Given the description of an element on the screen output the (x, y) to click on. 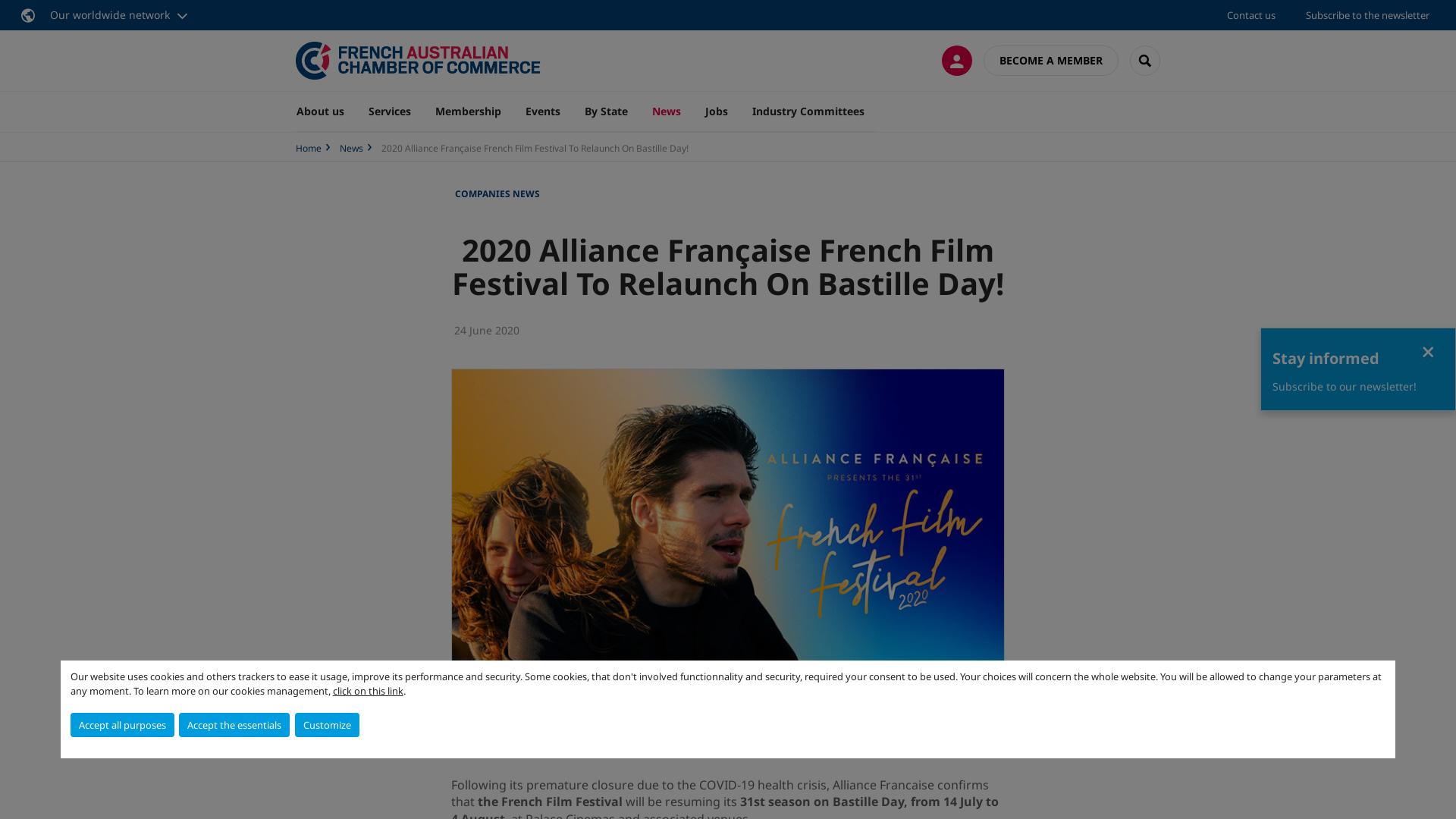
Customize Element type: text (326, 724)
click on this link Element type: text (367, 690)
Our worldwide network Element type: text (105, 15)
Subscribe to the newsletter Element type: text (1367, 15)
LOG IN Element type: text (956, 60)
Contact us Element type: text (1250, 15)
Industry Committees Element type: text (808, 111)
Jobs Element type: text (716, 111)
Accept the essentials Element type: text (233, 724)
Home Element type: text (308, 147)
Services Element type: text (389, 111)
Events Element type: text (542, 111)
News Element type: text (666, 111)
News Element type: text (351, 147)
By State Element type: text (606, 111)
SEARCH Element type: text (1144, 60)
Membership Element type: text (468, 111)
BECOME A MEMBER Element type: text (1050, 60)
Subscribe to our newsletter! Element type: text (1344, 386)
Accept all purposes Element type: text (122, 724)
About us Element type: text (325, 111)
